Given the description of an element on the screen output the (x, y) to click on. 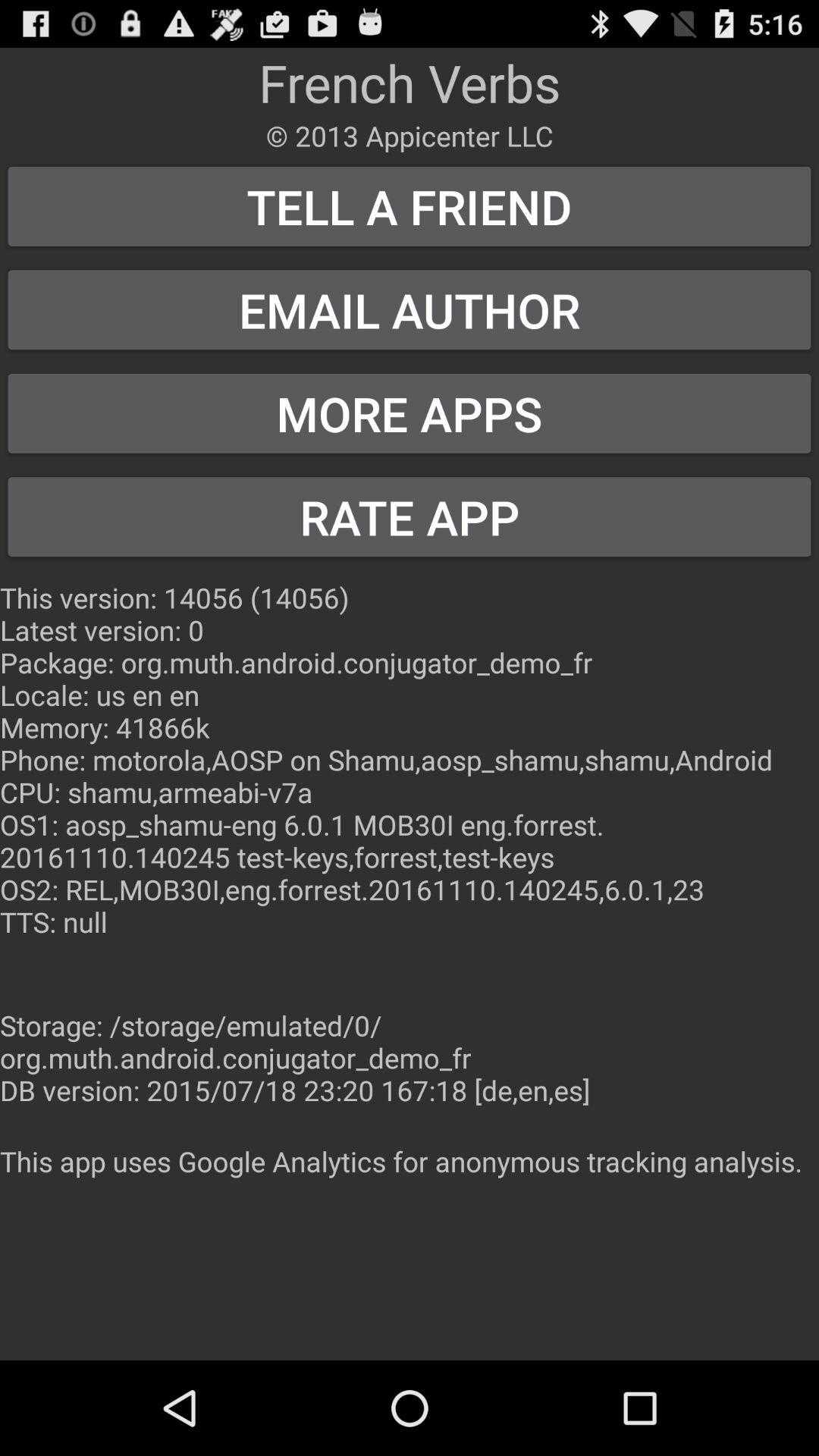
swipe until rate app (409, 516)
